Given the description of an element on the screen output the (x, y) to click on. 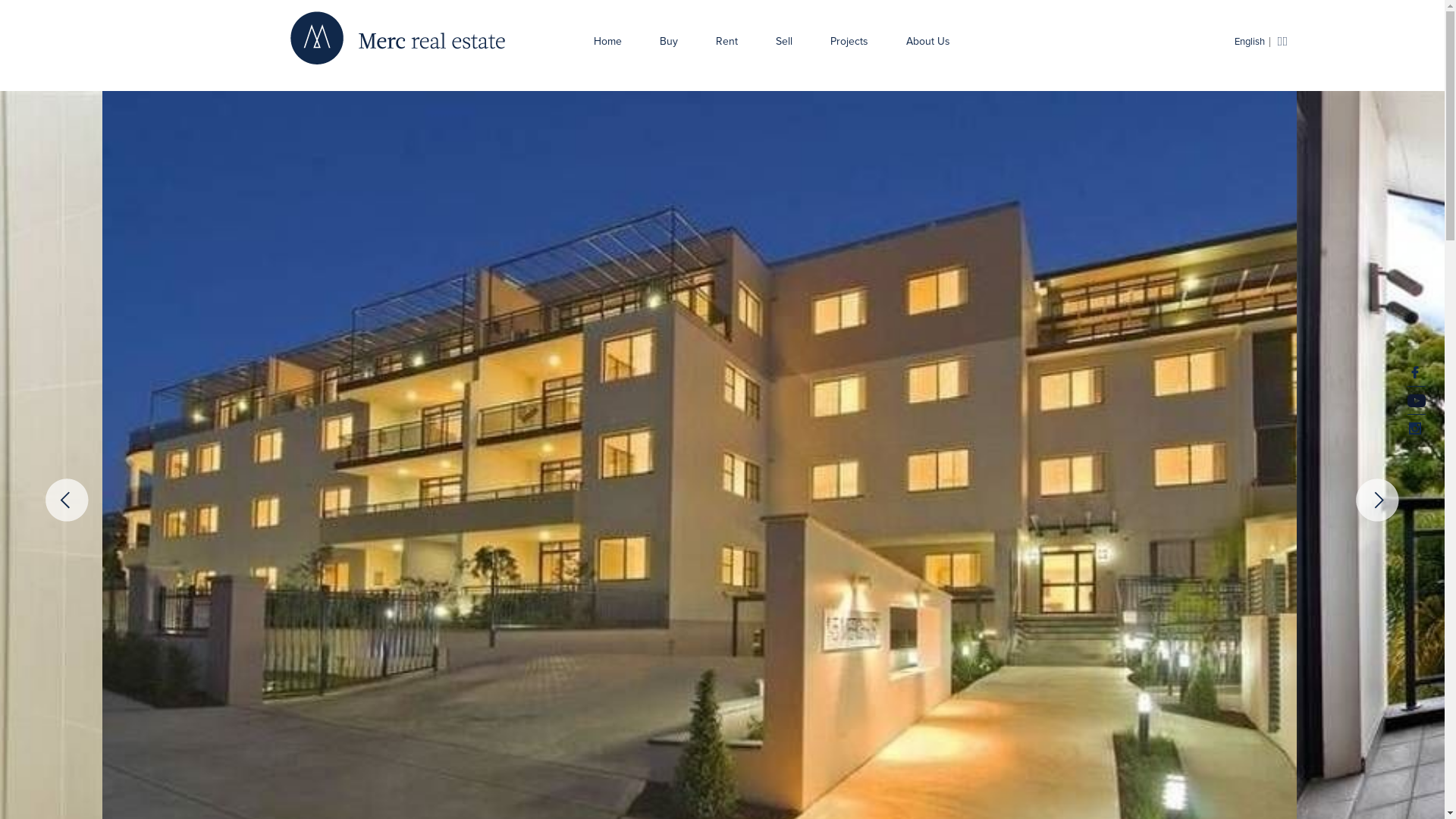
Projects Element type: text (849, 37)
Buy Element type: text (668, 37)
English Element type: text (1249, 41)
About Us Element type: text (928, 37)
Youtube Element type: hover (1416, 399)
Sell Element type: text (783, 37)
Home Element type: text (607, 37)
Instagram Element type: hover (1414, 427)
Rent Element type: text (726, 37)
Facebook Element type: hover (1414, 370)
